Given the description of an element on the screen output the (x, y) to click on. 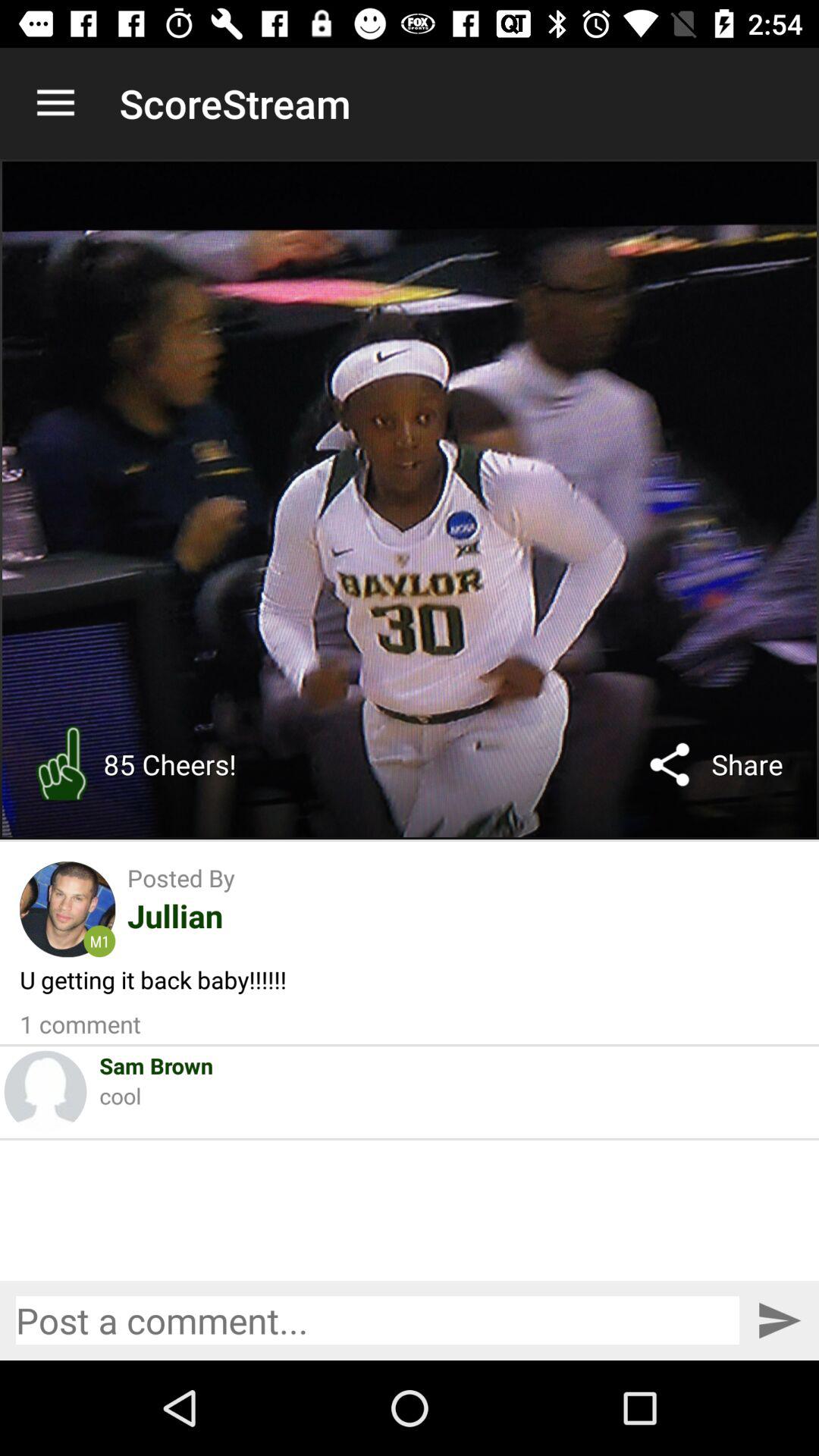
flip to m1 item (99, 941)
